Given the description of an element on the screen output the (x, y) to click on. 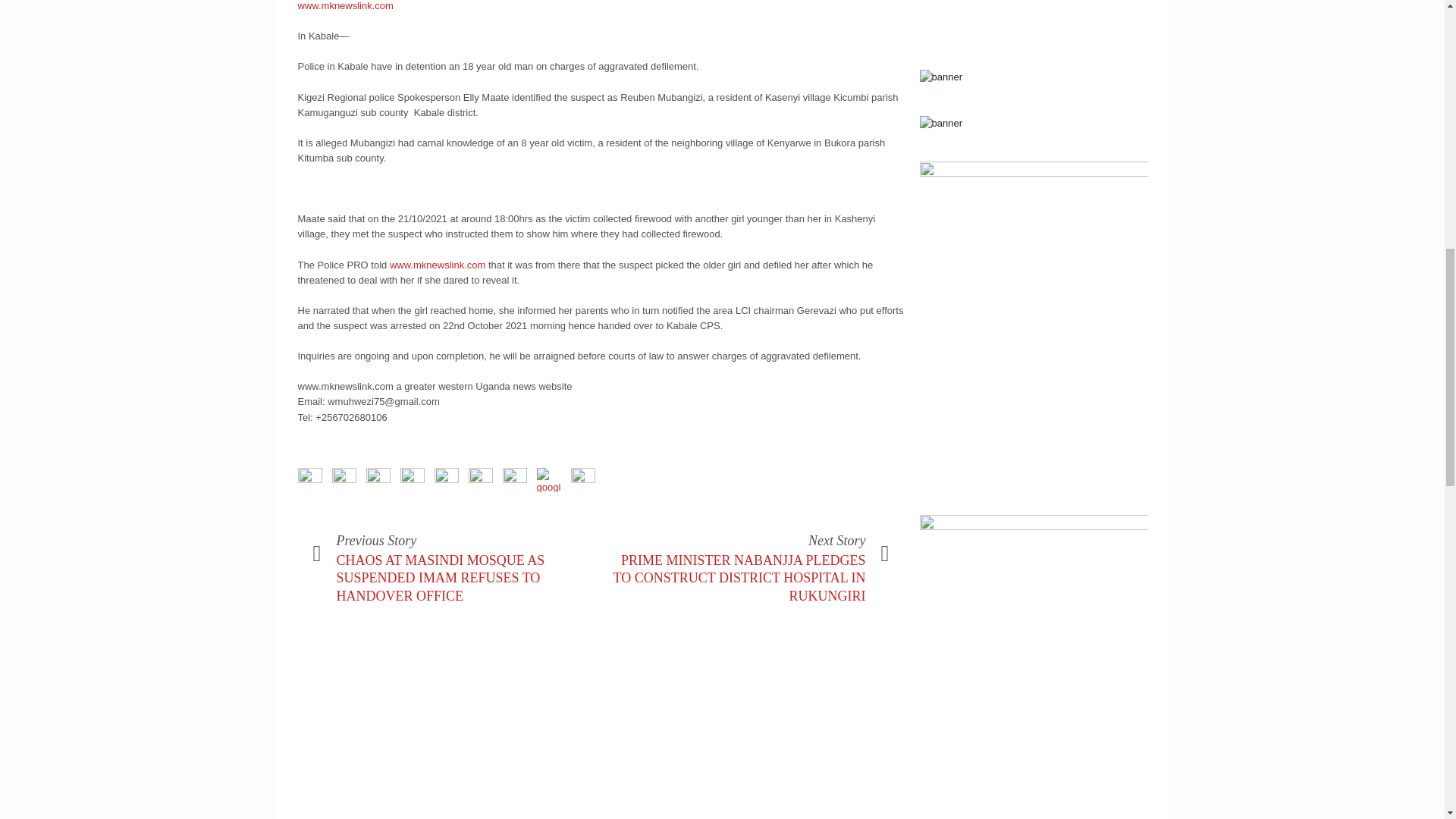
www.mknewslink.com (437, 265)
www.mknewslink.com (345, 5)
